Given the description of an element on the screen output the (x, y) to click on. 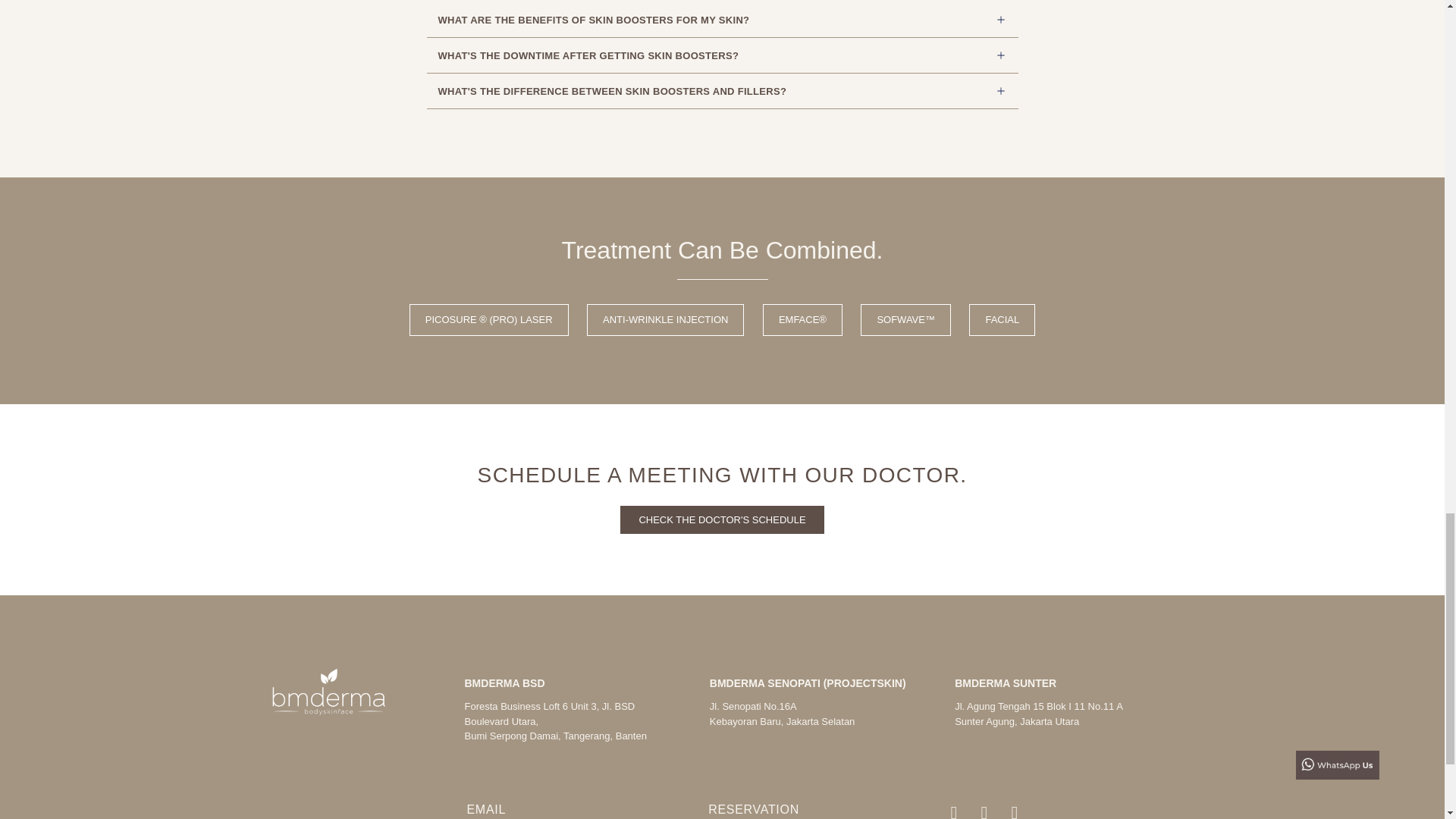
ANTI-WRINKLE INJECTION (665, 319)
WHAT'S THE DIFFERENCE BETWEEN SKIN BOOSTERS AND FILLERS? (612, 91)
WHAT'S THE DOWNTIME AFTER GETTING SKIN BOOSTERS? (588, 55)
WHAT ARE THE BENEFITS OF SKIN BOOSTERS FOR MY SKIN? (593, 19)
CHECK THE DOCTOR'S SCHEDULE (722, 519)
FACIAL (1002, 319)
